Given the description of an element on the screen output the (x, y) to click on. 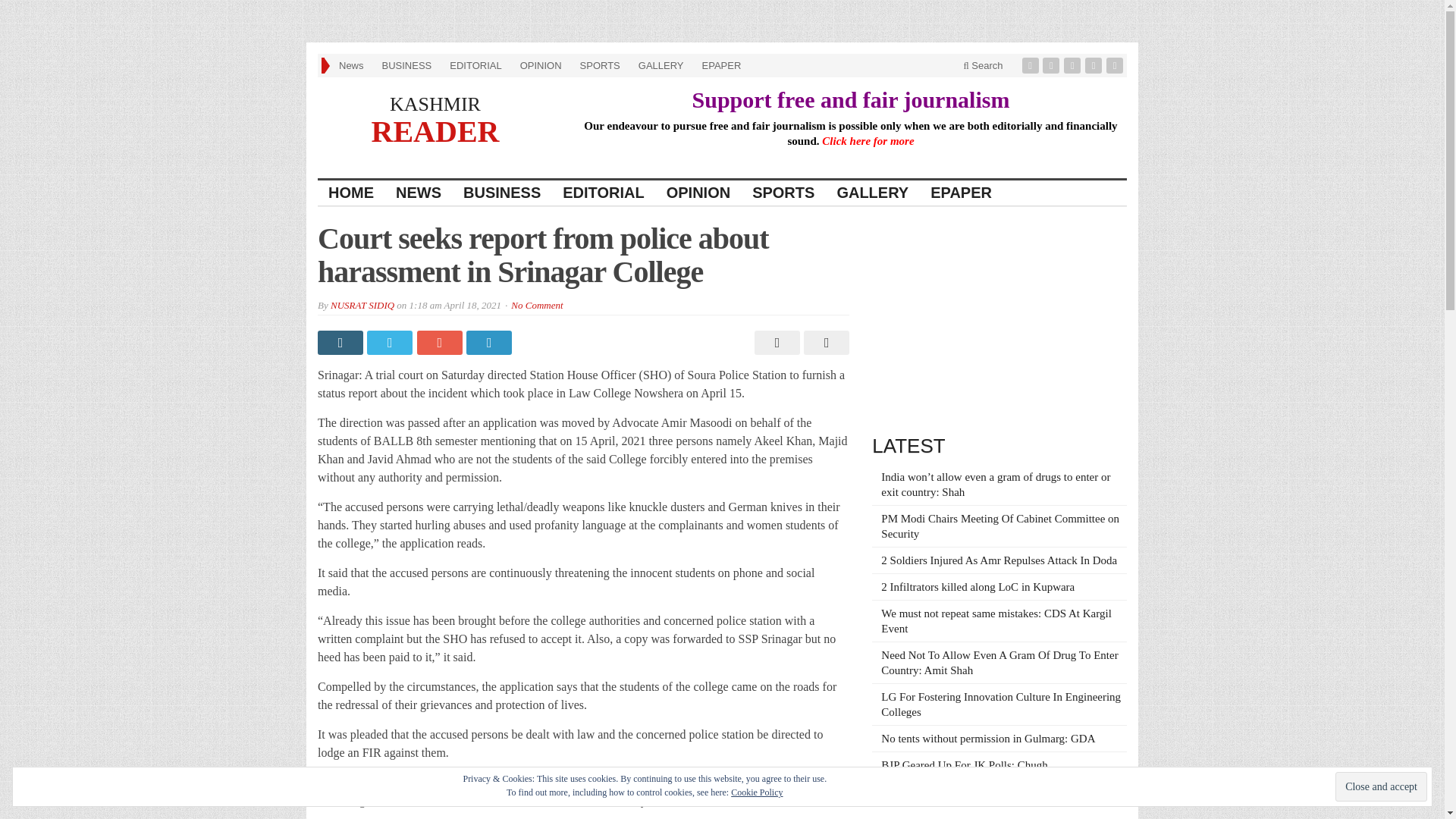
NUSRAT SIDIQ (362, 305)
BUSINESS (406, 65)
HOME (351, 192)
Print This Post (775, 342)
KASHMIR (435, 104)
Facebook (1032, 65)
Share on LinkedIn (490, 342)
NEWS (418, 192)
Close and accept (1380, 786)
Youtube (1094, 65)
